Given the description of an element on the screen output the (x, y) to click on. 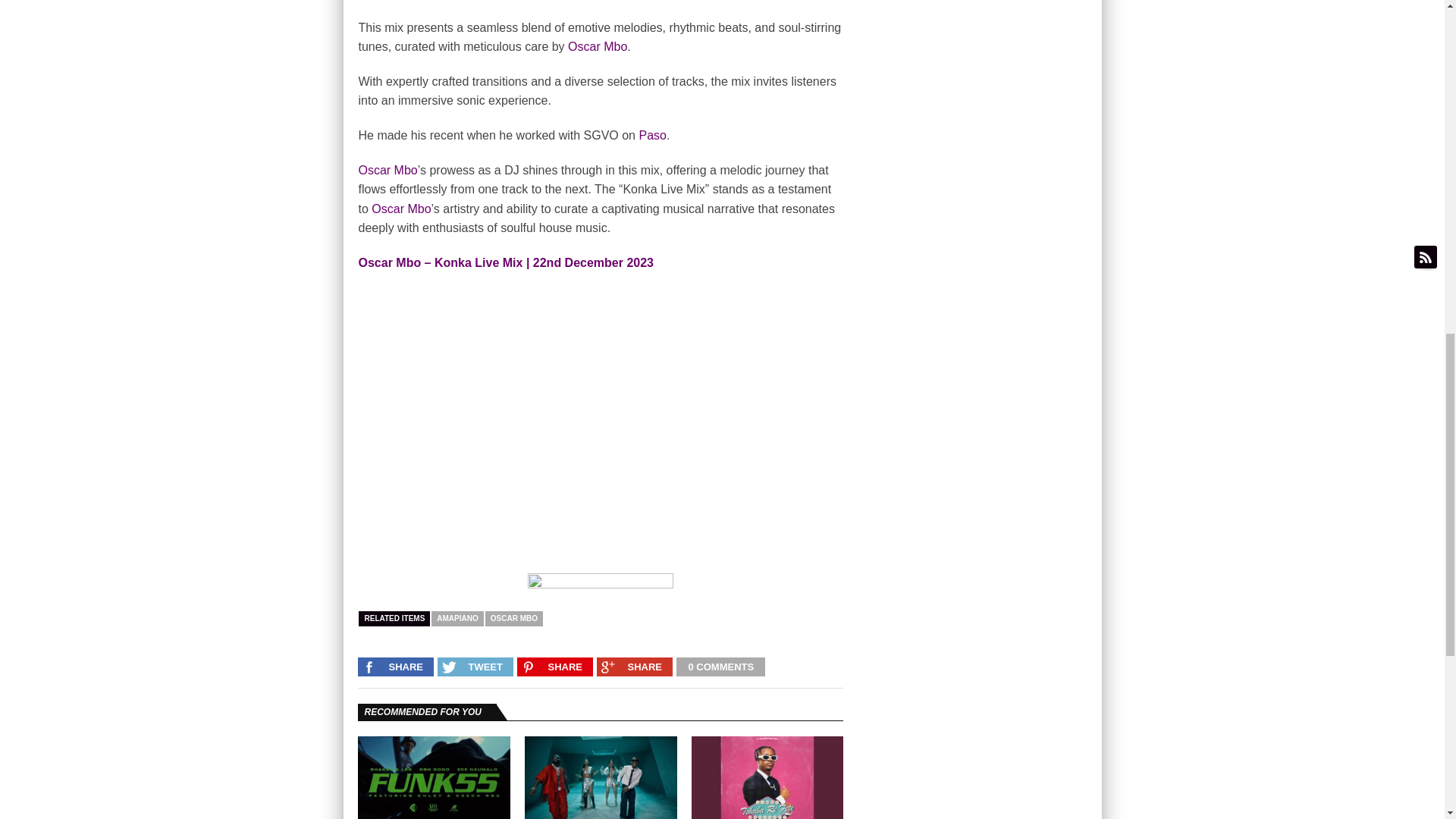
Oscar Mbo (387, 169)
Oscar Mbo (400, 208)
Oscar Mbo (387, 169)
OSCAR MBO (513, 618)
AMAPIANO (456, 618)
Paso (652, 134)
Oscar Mbo (597, 46)
Oscar Mbo (597, 46)
Oscar Mbo (400, 208)
